Given the description of an element on the screen output the (x, y) to click on. 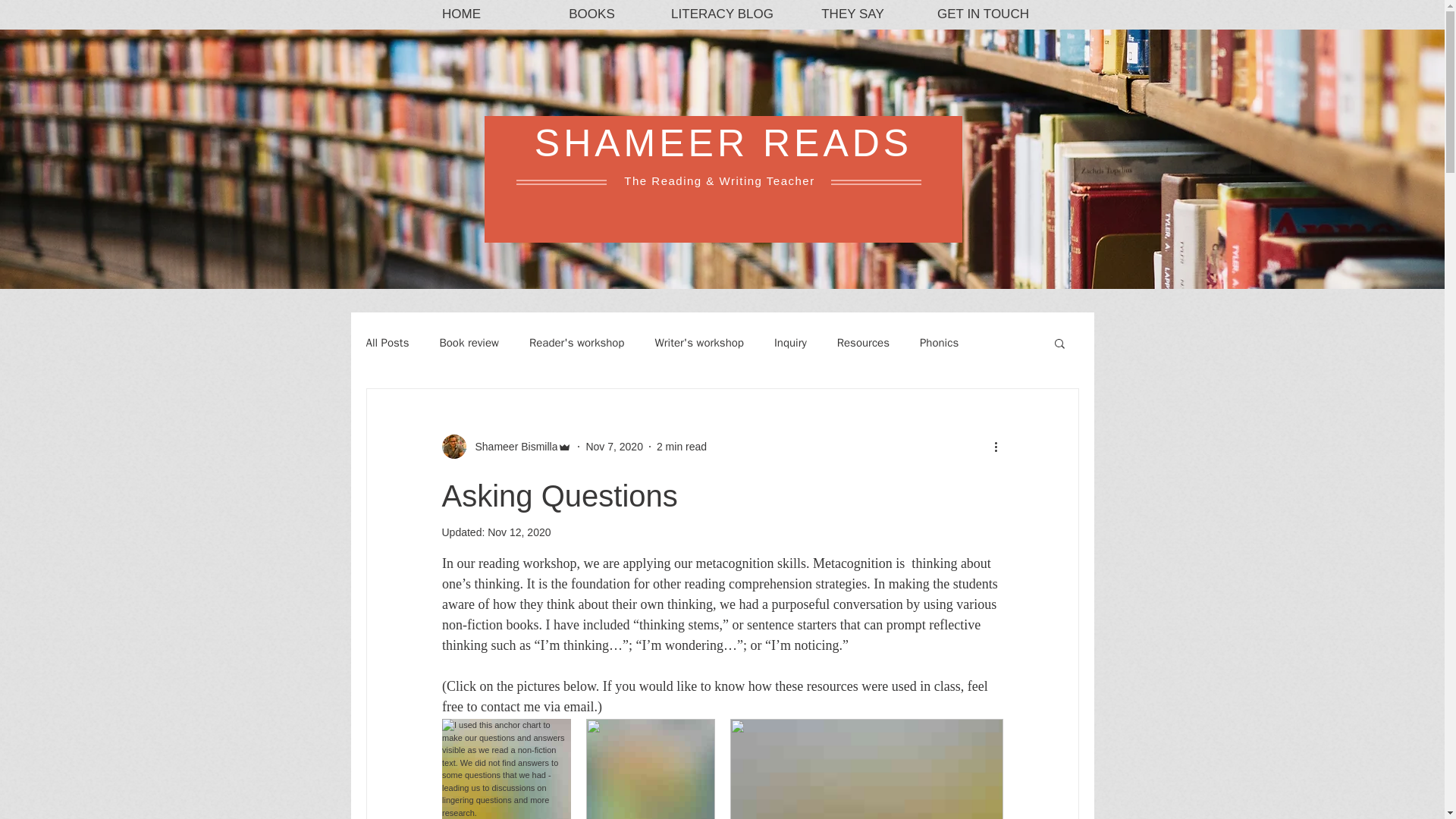
Phonics (939, 341)
2 min read (681, 445)
BOOKS (590, 14)
LITERACY BLOG (721, 14)
Nov 7, 2020 (614, 445)
Shameer Bismilla (511, 446)
Nov 12, 2020 (518, 532)
THEY SAY (852, 14)
Book review (469, 341)
Writer's workshop (697, 341)
All Posts (387, 341)
SHAMEER READS (723, 143)
Resources (863, 341)
HOME (460, 14)
GET IN TOUCH (982, 14)
